Given the description of an element on the screen output the (x, y) to click on. 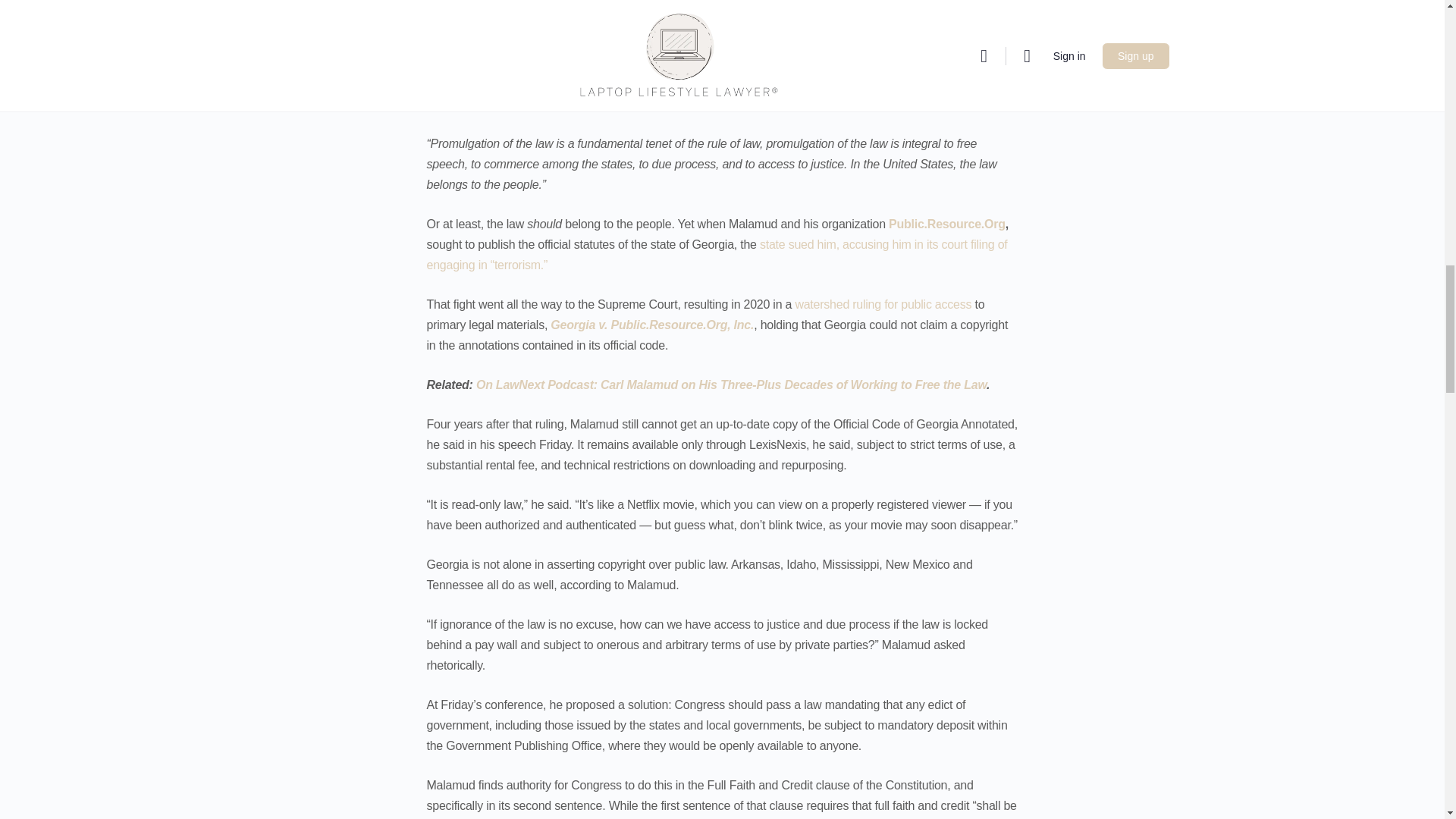
watershed ruling for public access (882, 304)
state sued him (797, 244)
Georgia v. Public.Resource.Org, Inc. (652, 324)
Carl Malamud (480, 83)
Public.Resource.Org (947, 223)
